Given the description of an element on the screen output the (x, y) to click on. 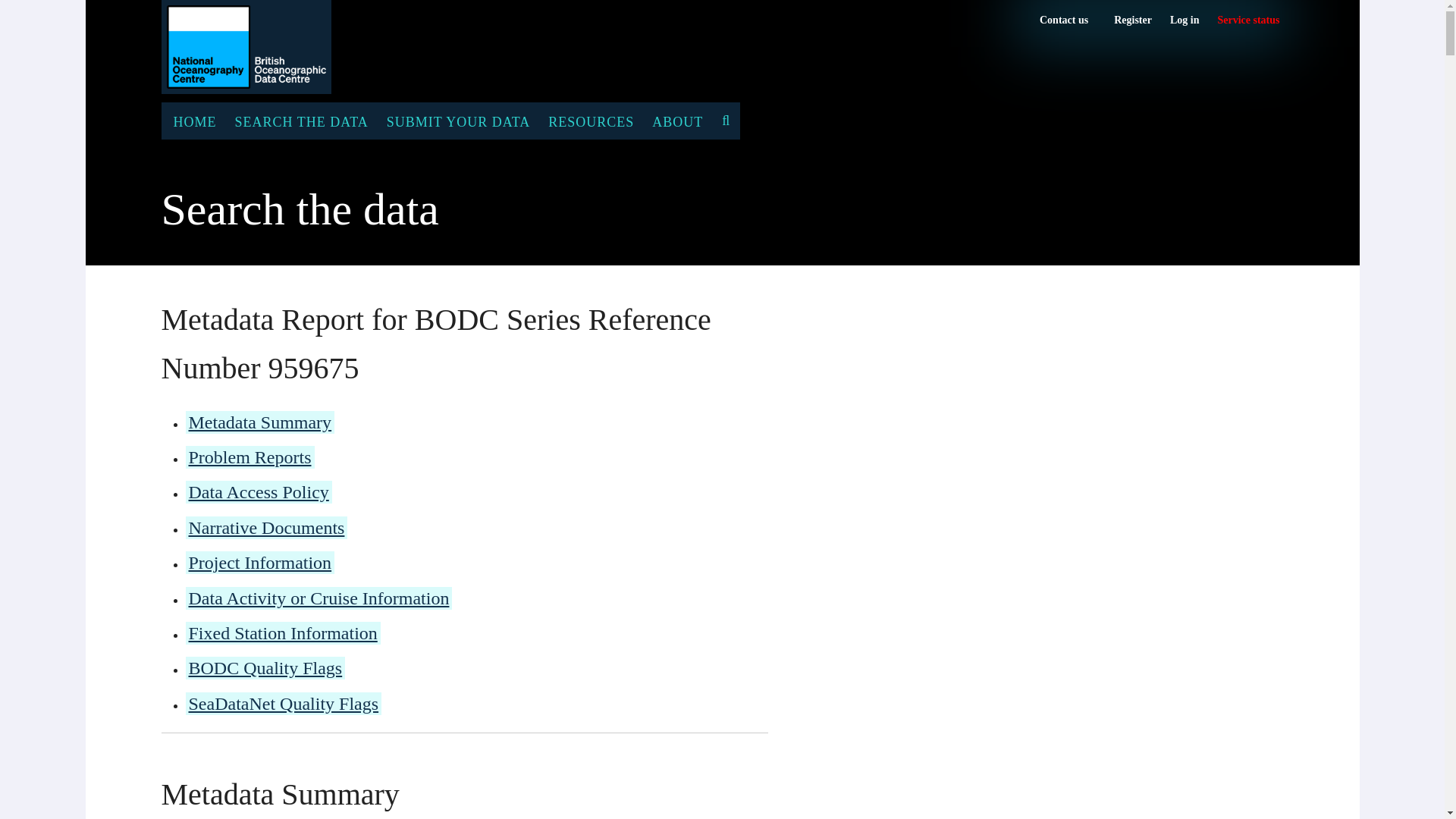
ABOUT (677, 120)
RESOURCES (590, 120)
Contact us (1063, 19)
Log in (1184, 19)
Register (1132, 19)
SEARCH THE DATA (301, 120)
HOME (1248, 19)
Service status (192, 120)
SUBMIT YOUR DATA (1248, 19)
